Given the description of an element on the screen output the (x, y) to click on. 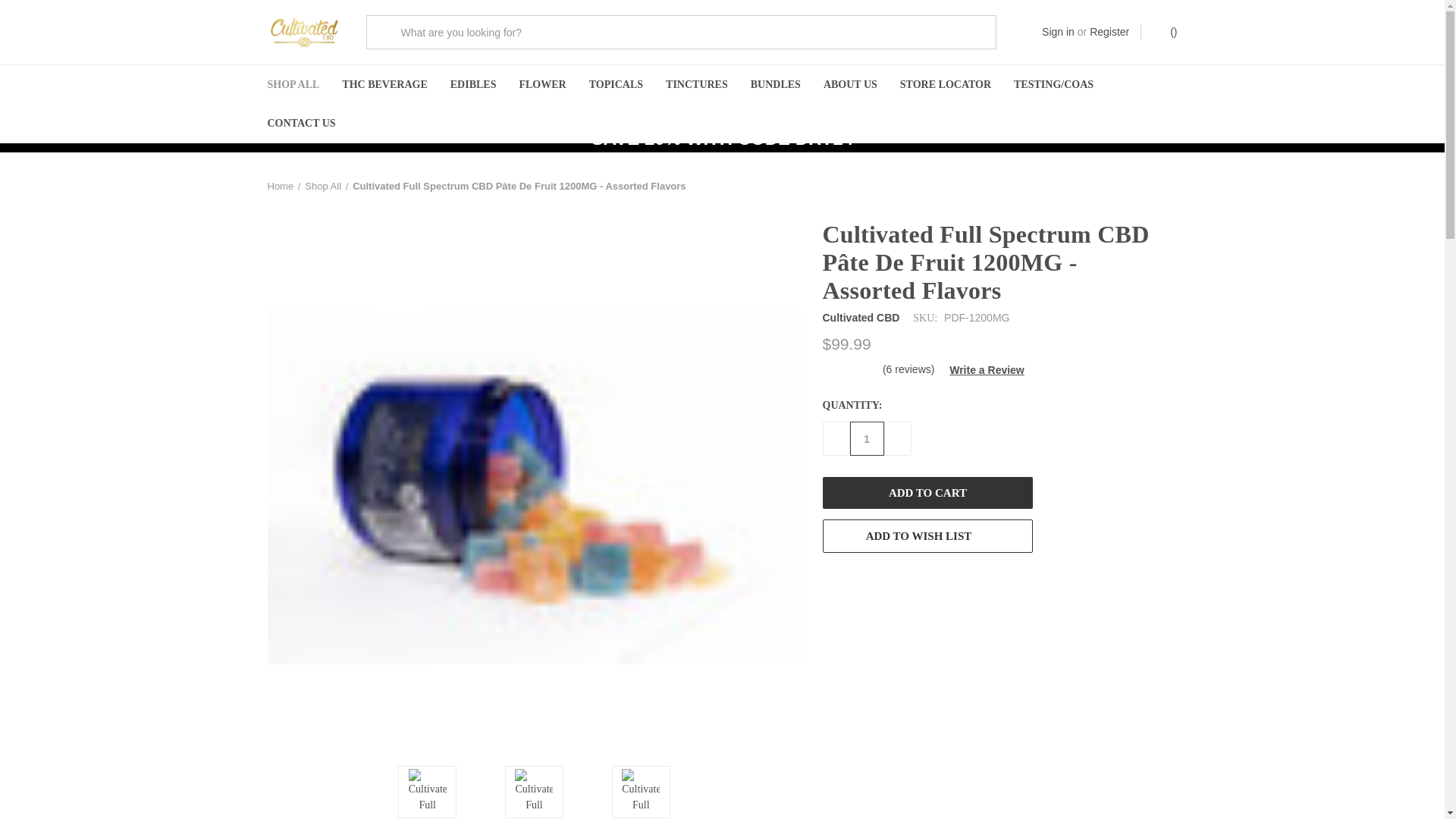
Add to Cart (927, 492)
EDIBLES (473, 84)
TOPICALS (615, 84)
TINCTURES (696, 84)
Write a Review (980, 370)
FLOWER (541, 84)
1 (865, 438)
Register (1109, 32)
BUNDLES (775, 84)
Cultivated CBD (860, 317)
Add to Cart (927, 492)
Shop All (322, 185)
Home (280, 185)
Sign in (1058, 32)
STORE LOCATOR (945, 84)
